Given the description of an element on the screen output the (x, y) to click on. 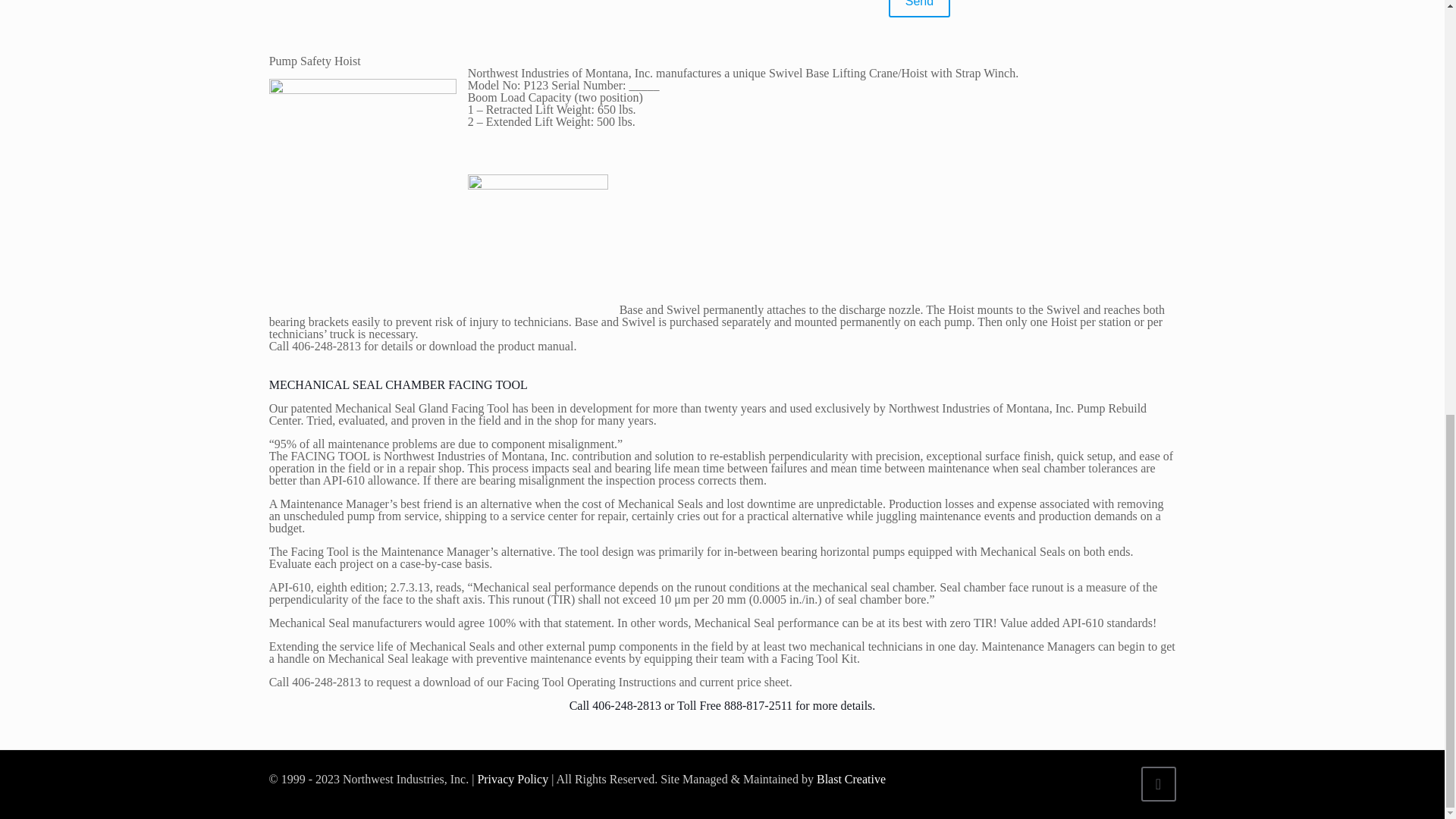
406-248-2813 (626, 705)
Privacy Policy (511, 779)
888-817-2511 (757, 705)
Send (919, 8)
Send (919, 8)
Blast Creative (850, 779)
